Given the description of an element on the screen output the (x, y) to click on. 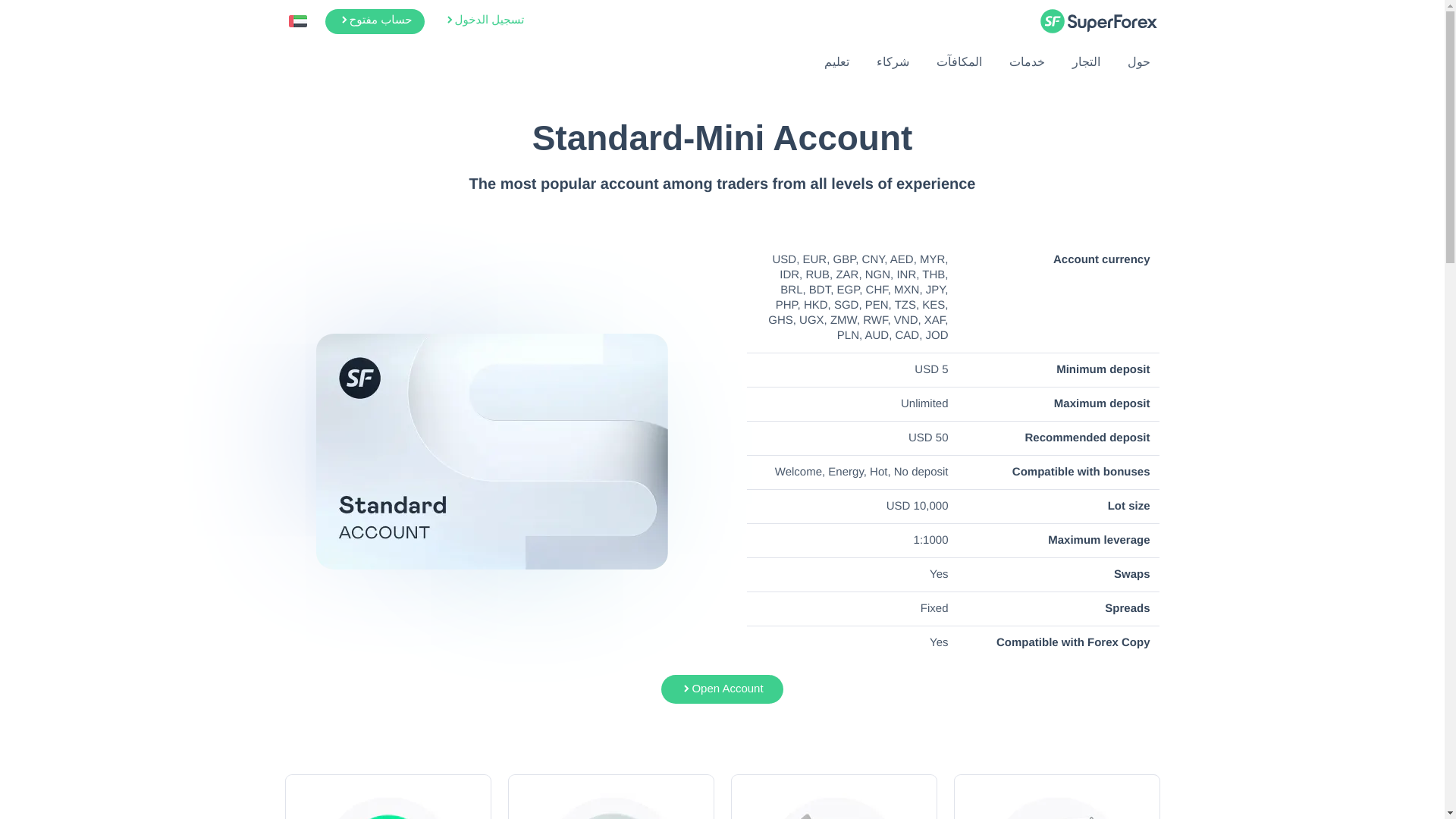
Open Account (722, 688)
